Given the description of an element on the screen output the (x, y) to click on. 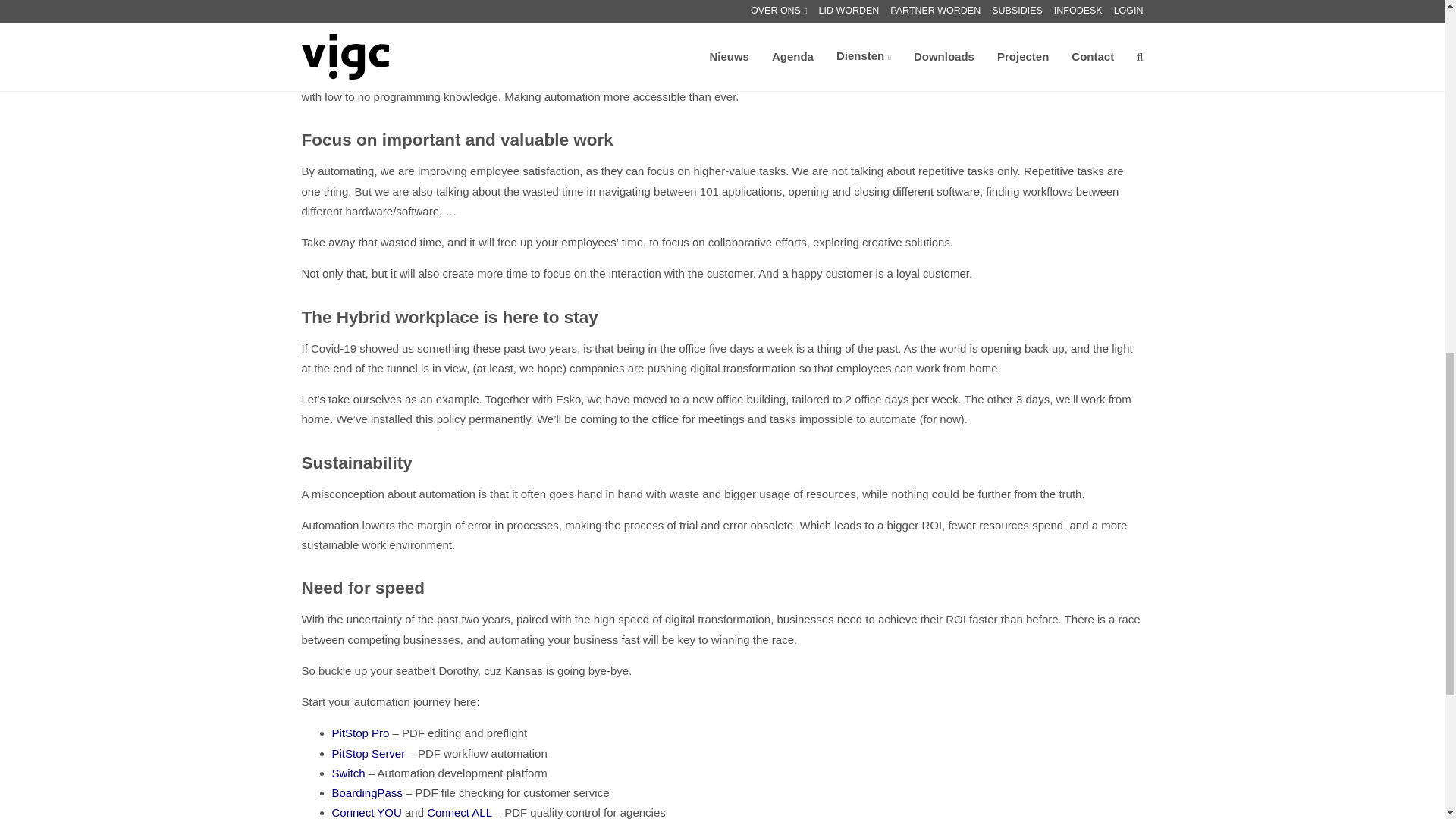
Connect YOU (366, 812)
Connect ALL (459, 812)
PitStop Server (368, 752)
Switch (348, 772)
BoardingPass (367, 792)
PitStop Pro (360, 732)
